Given the description of an element on the screen output the (x, y) to click on. 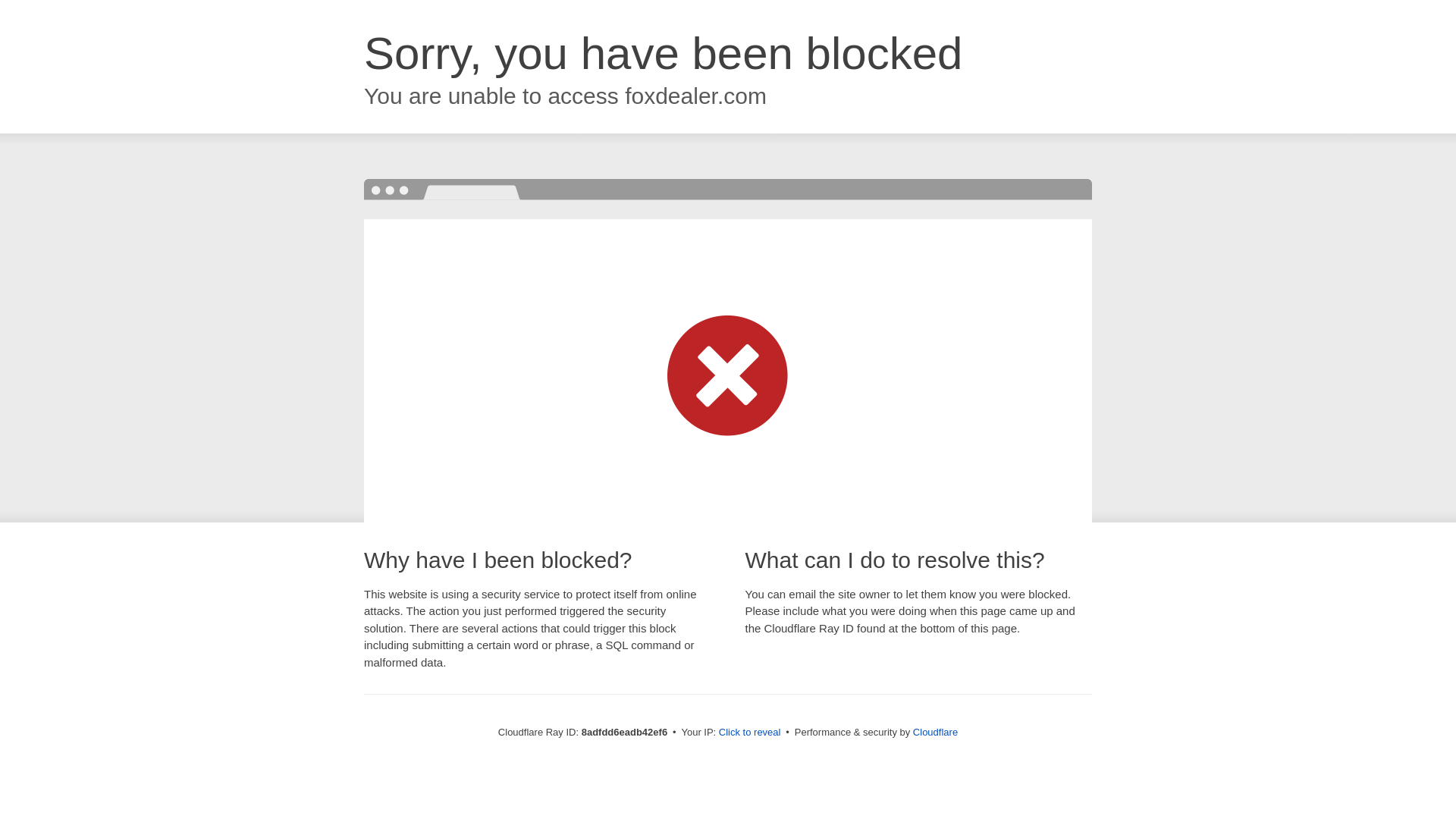
Cloudflare (935, 731)
Click to reveal (749, 732)
